Given the description of an element on the screen output the (x, y) to click on. 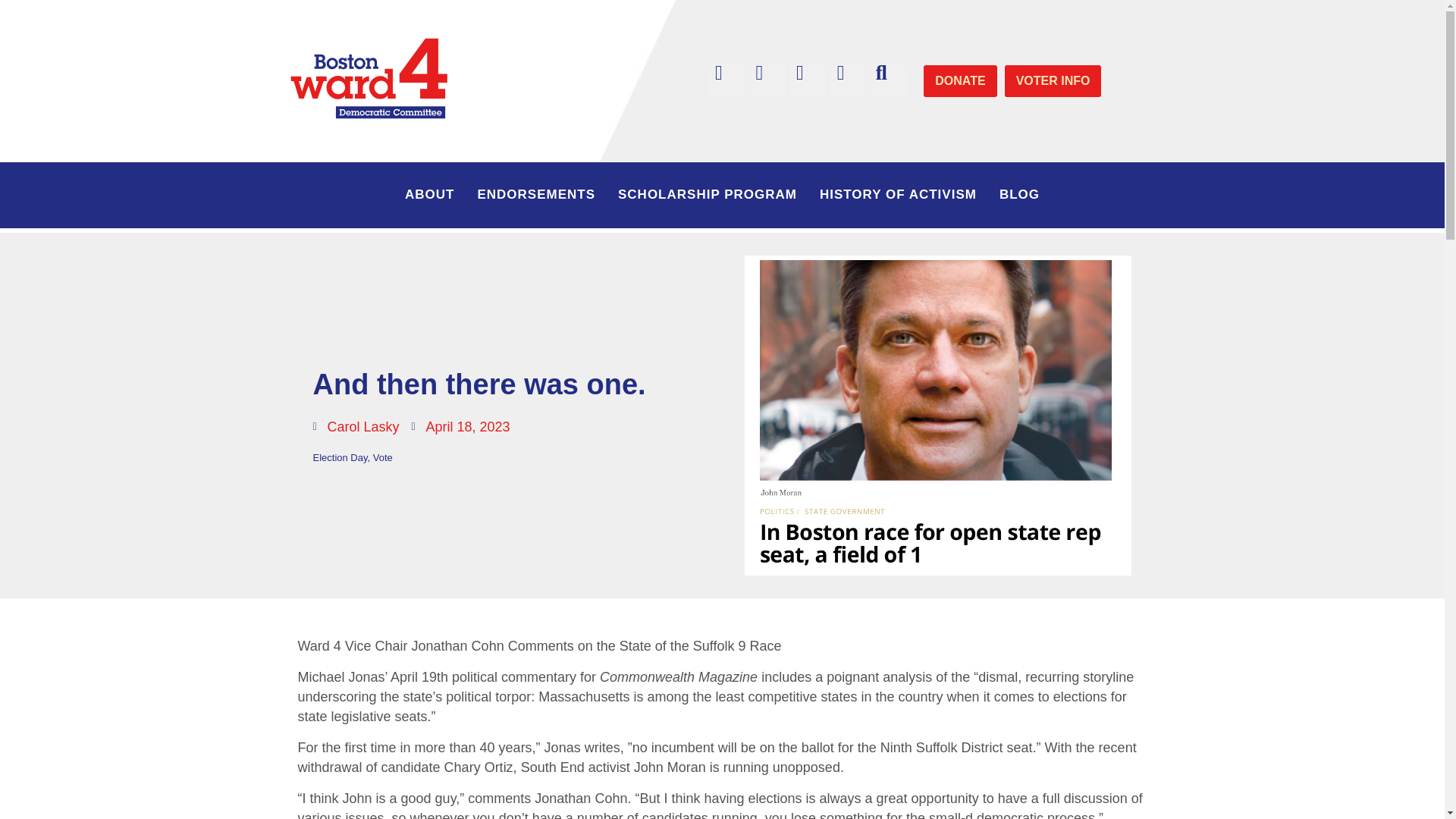
BLOG (1019, 194)
VOTER INFO (1053, 81)
HISTORY OF ACTIVISM (898, 194)
Election Day (339, 457)
April 18, 2023 (461, 426)
DONATE (959, 81)
SCHOLARSHIP PROGRAM (707, 194)
Vote (382, 457)
Carol Lasky (355, 426)
ENDORSEMENTS (536, 194)
ABOUT (429, 194)
